Given the description of an element on the screen output the (x, y) to click on. 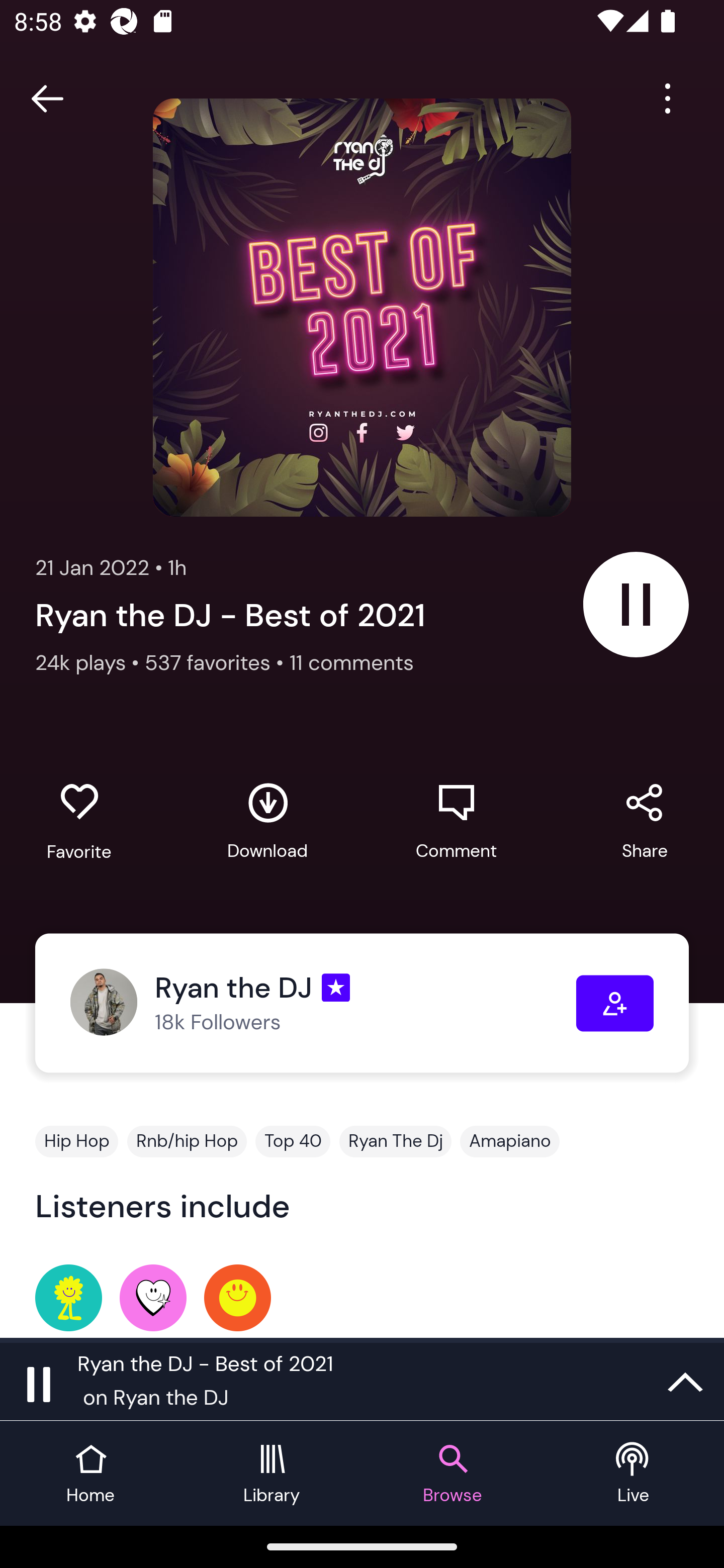
537 favorites •  (216, 662)
11 comments (351, 662)
Favorite (79, 821)
Download (267, 821)
Comment (455, 821)
Share (644, 821)
Follow (614, 1003)
Hip Hop (76, 1141)
Rnb/hip Hop (186, 1141)
Top 40 (292, 1141)
Ryan The Dj (395, 1141)
Amapiano (509, 1141)
Home tab Home (90, 1473)
Library tab Library (271, 1473)
Browse tab Browse (452, 1473)
Live tab Live (633, 1473)
